Given the description of an element on the screen output the (x, y) to click on. 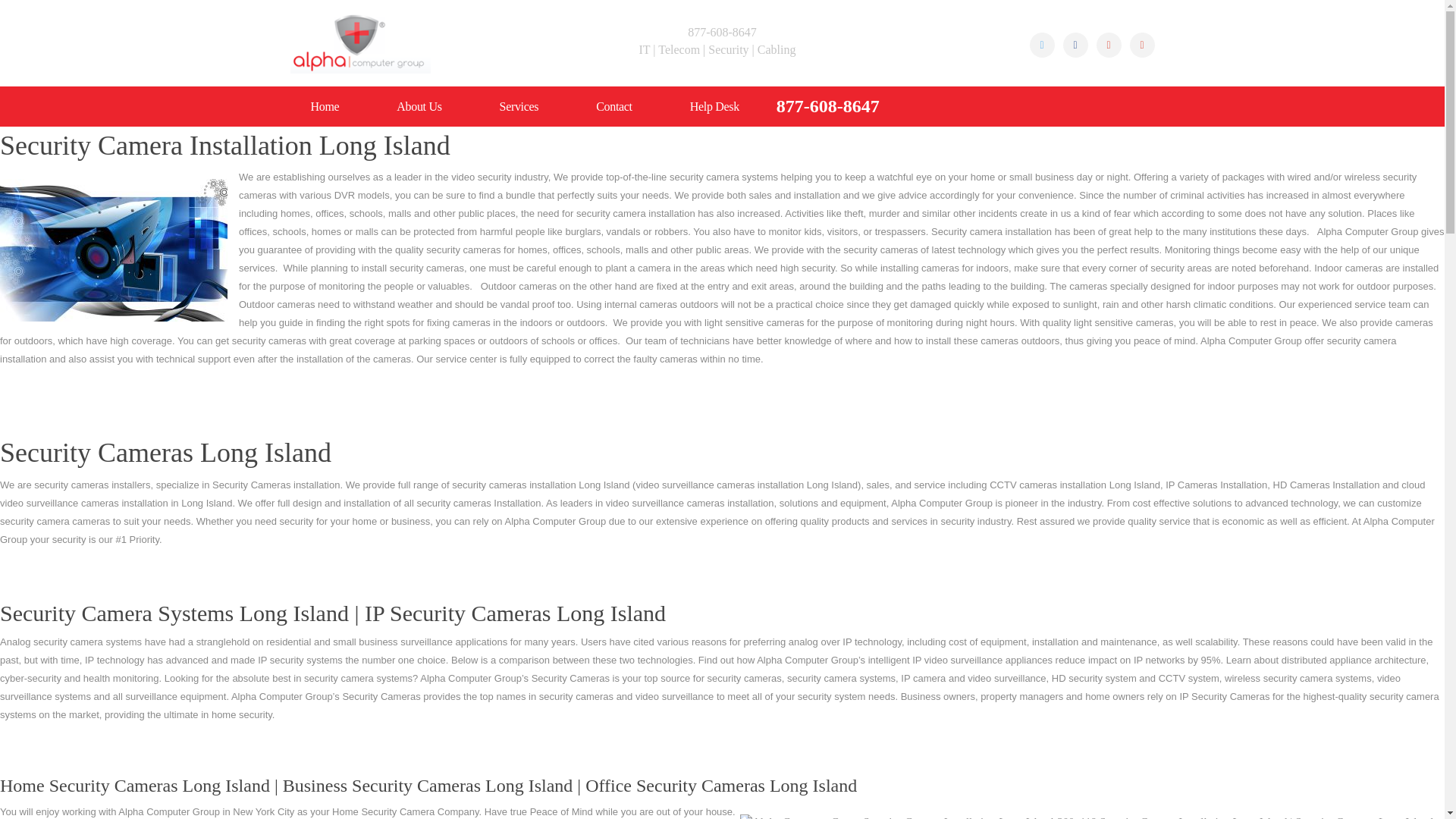
Services (519, 106)
Help Desk (714, 106)
About Us (418, 106)
Contact (613, 106)
Home (324, 106)
877-608-8647 (827, 106)
